Given the description of an element on the screen output the (x, y) to click on. 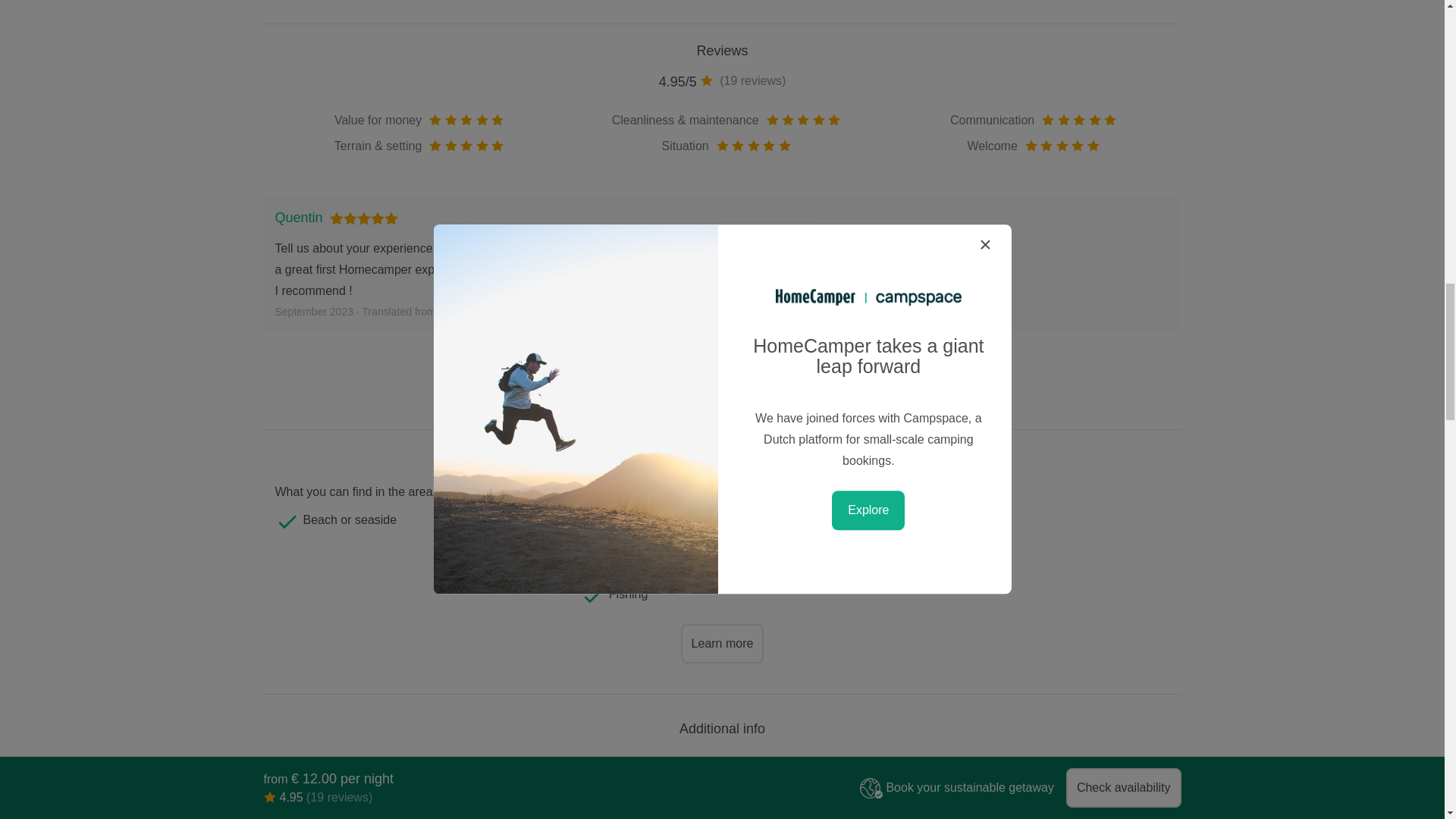
Last page (780, 380)
